Given the description of an element on the screen output the (x, y) to click on. 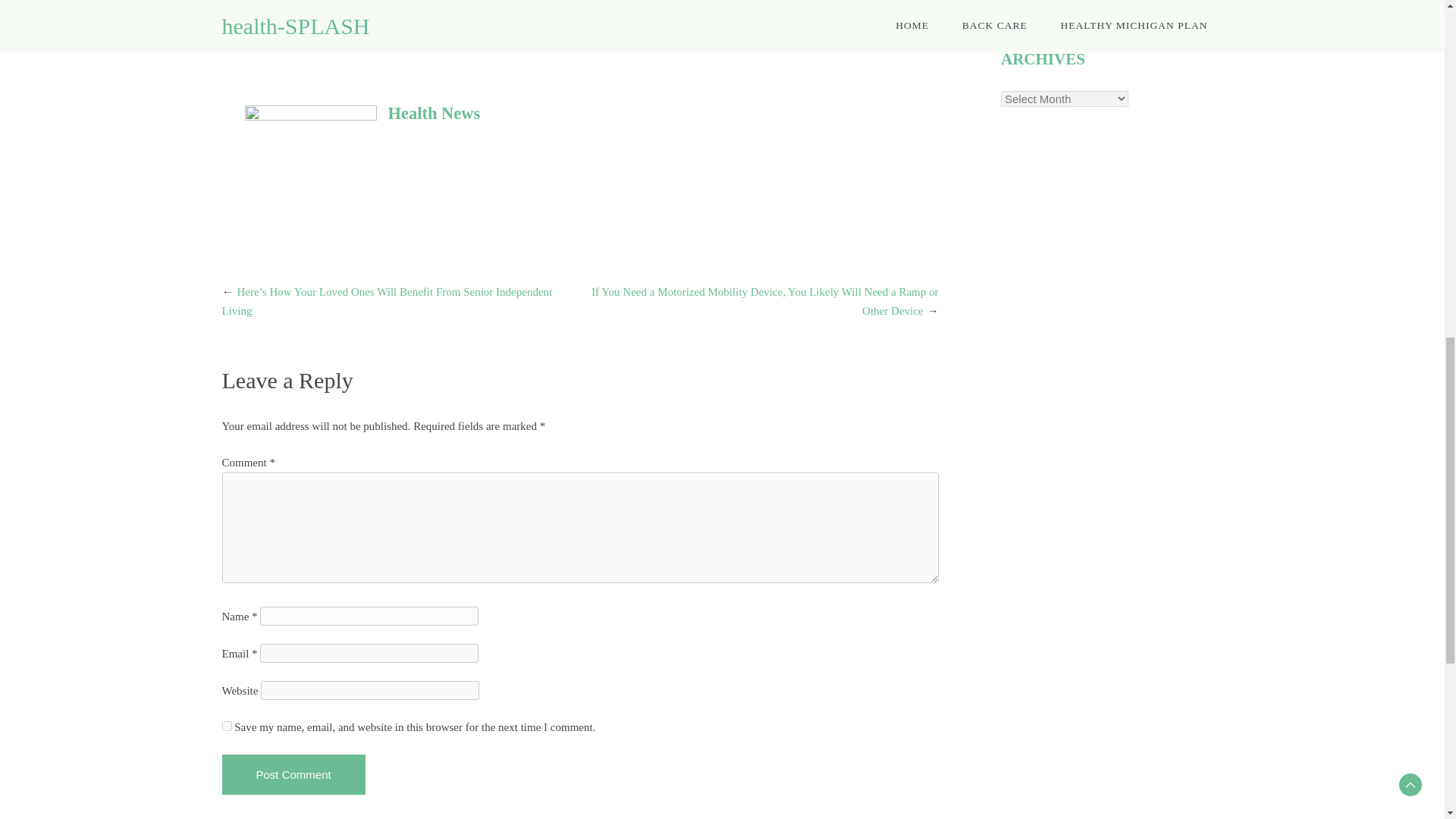
Health News (434, 113)
Post Comment (293, 774)
Post Comment (293, 774)
yes (226, 726)
drug test (509, 12)
